Given the description of an element on the screen output the (x, y) to click on. 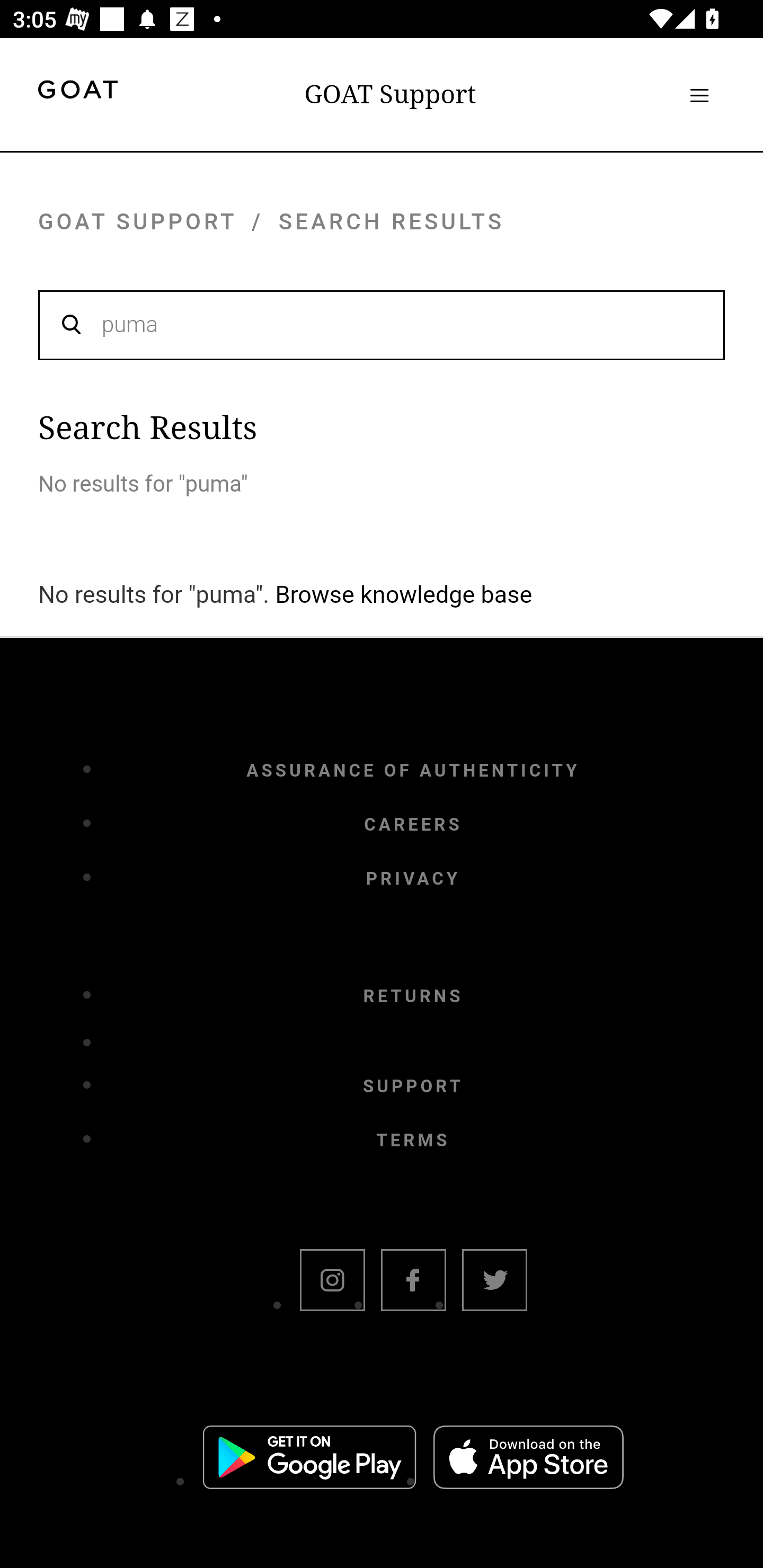
goat header logo (77, 92)
Toggle navigation menu (698, 94)
GOAT Support (389, 94)
GOAT SUPPORT (137, 221)
puma (381, 324)
Browse knowledge base (403, 594)
ASSURANCE OF AUTHENTICITY (412, 770)
CAREERS (412, 824)
PRIVACY (412, 878)
RETURNS (412, 997)
SUPPORT (412, 1086)
TERMS (413, 1141)
instagram icon (331, 1282)
facebook icon (413, 1282)
twitter icon (494, 1282)
Google Playstore badge (309, 1460)
Apple Appstore badge (528, 1460)
